Given the description of an element on the screen output the (x, y) to click on. 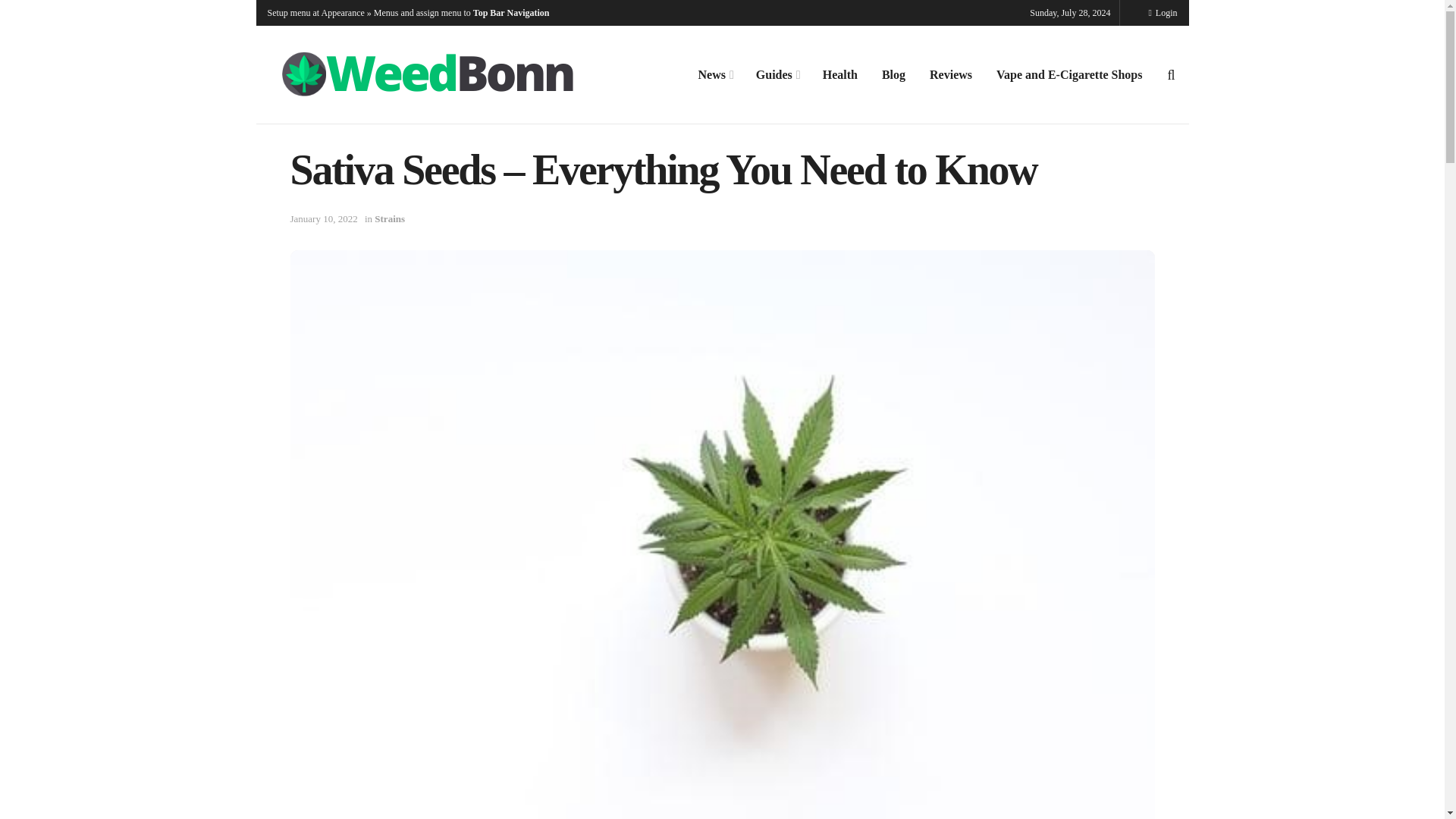
Guides (777, 75)
January 10, 2022 (322, 218)
Login (1162, 12)
Health (839, 75)
Blog (893, 75)
News (714, 75)
Vape and E-Cigarette Shops (1069, 75)
Reviews (950, 75)
Strains (389, 218)
